Given the description of an element on the screen output the (x, y) to click on. 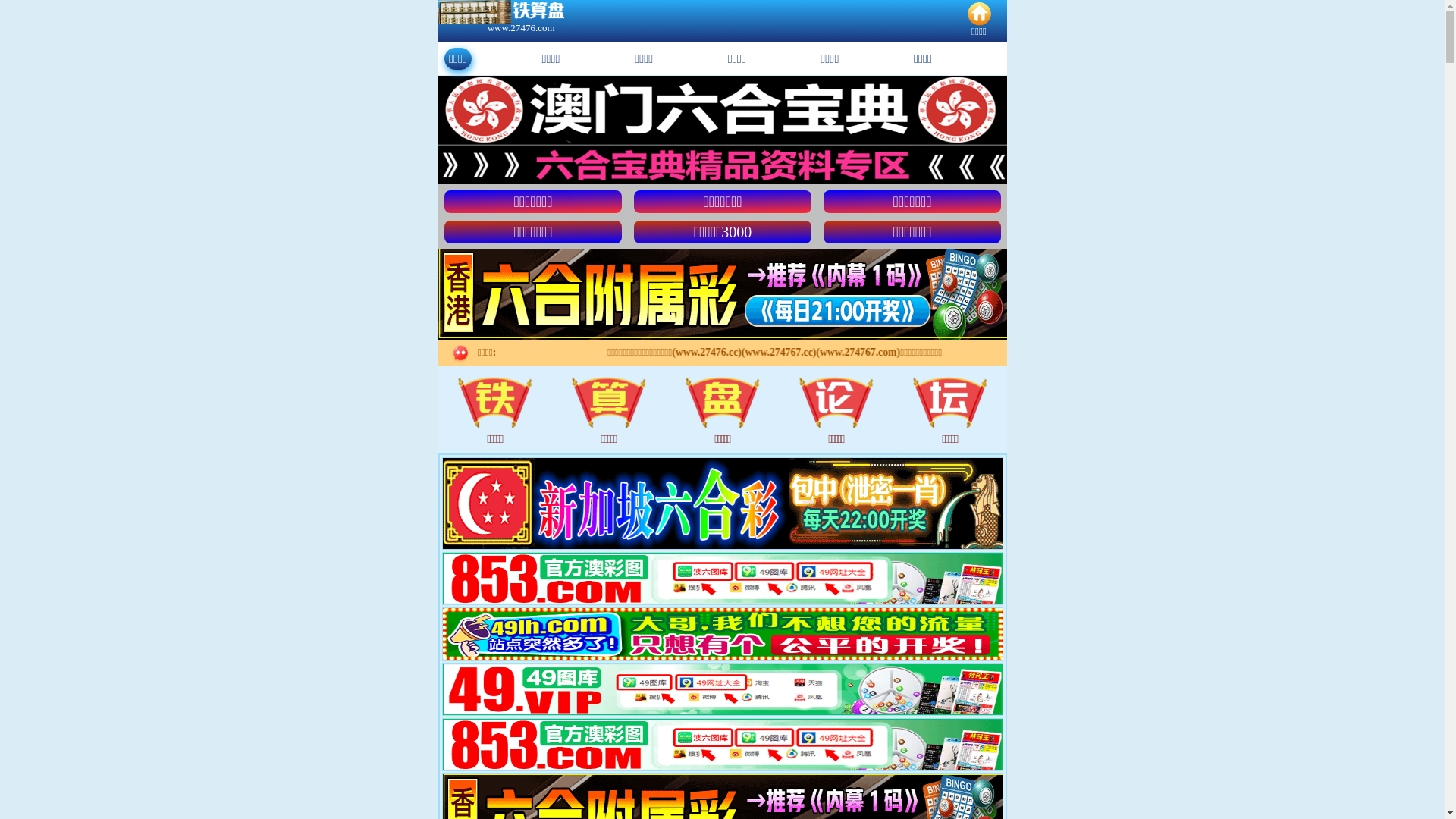
www.27476.com Element type: text (521, 27)
